Given the description of an element on the screen output the (x, y) to click on. 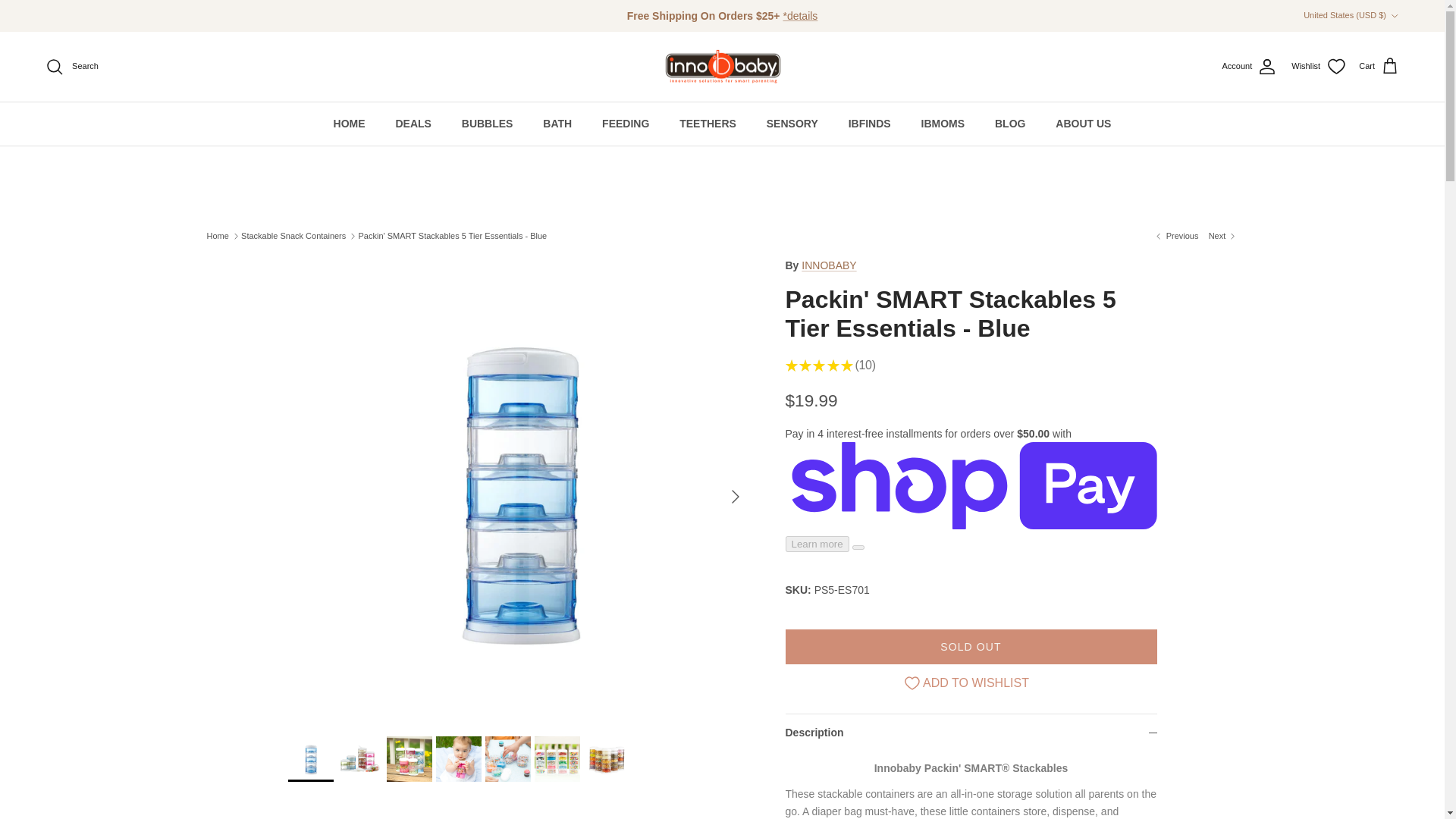
Cart (1378, 66)
Wishlist (1317, 66)
Packin' SMART Stackables 5 Tier Essentials - Green (1223, 236)
DEALS (412, 123)
Search (72, 66)
FEEDING (625, 123)
BATH (557, 123)
HOME (349, 123)
innobaby (722, 66)
BUBBLES (487, 123)
Innobaby Packin' SMART Stackables 2 Tier Essentials (1175, 236)
Account (1249, 66)
